Given the description of an element on the screen output the (x, y) to click on. 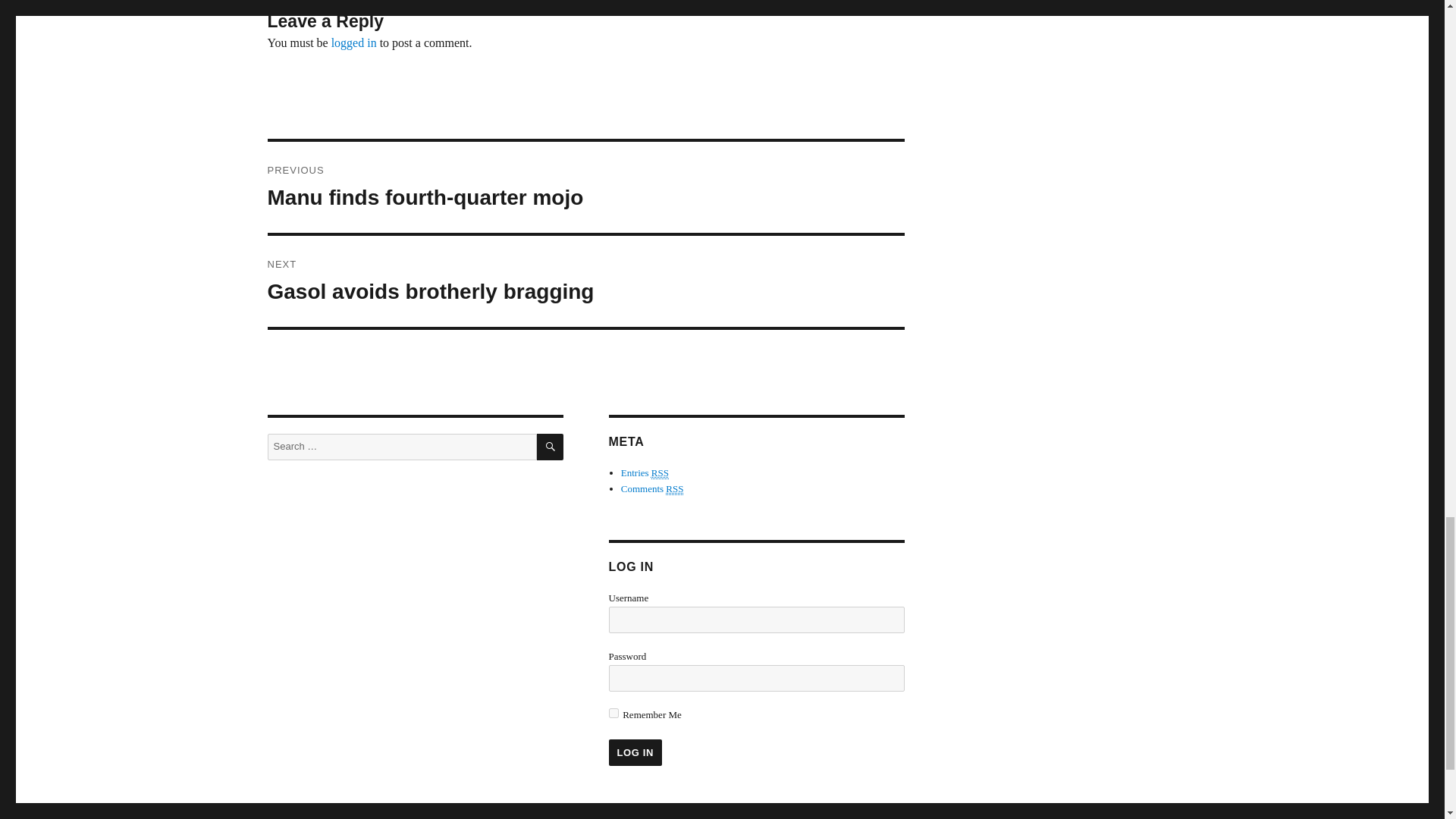
Really Simple Syndication (673, 489)
Log In (634, 752)
SEARCH (550, 447)
Comments RSS (652, 489)
Syndicate this site using RSS 2.0 (644, 472)
logged in (354, 42)
The latest comments to all posts in RSS (652, 489)
Log In (585, 280)
Really Simple Syndication (634, 752)
